Given the description of an element on the screen output the (x, y) to click on. 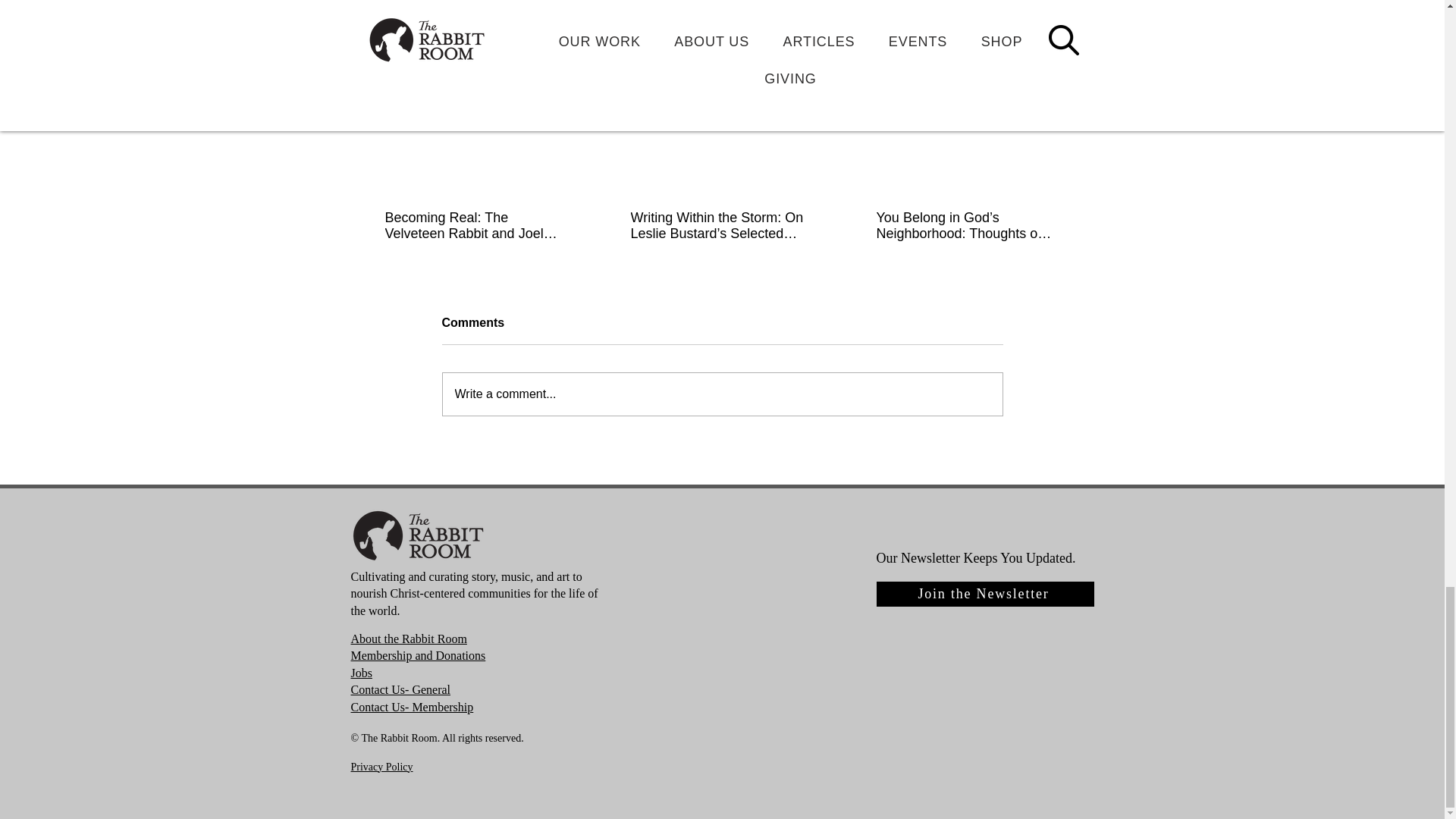
Join the Newsletter (985, 593)
See All (1061, 42)
Write a comment... (722, 394)
